Given the description of an element on the screen output the (x, y) to click on. 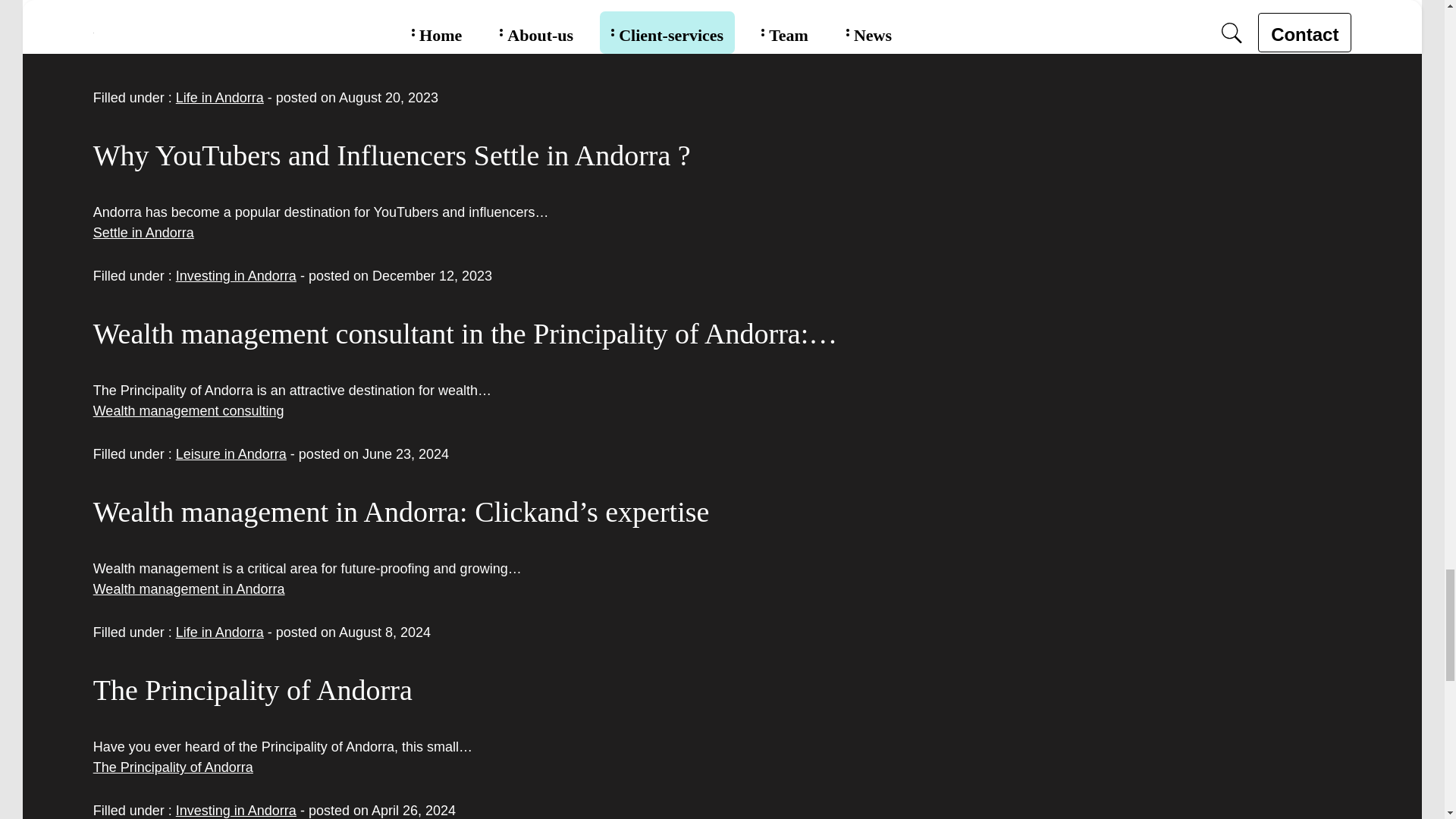
Investing in Andorra (236, 810)
Investing in Andorra (236, 275)
The Principality of Andorra (173, 767)
Wealth management consulting (188, 410)
Life in Andorra (219, 97)
Leisure in Andorra (231, 453)
Wealth management in Andorra (189, 589)
Life in Andorra (219, 631)
Settle in Andorra (143, 232)
